Given the description of an element on the screen output the (x, y) to click on. 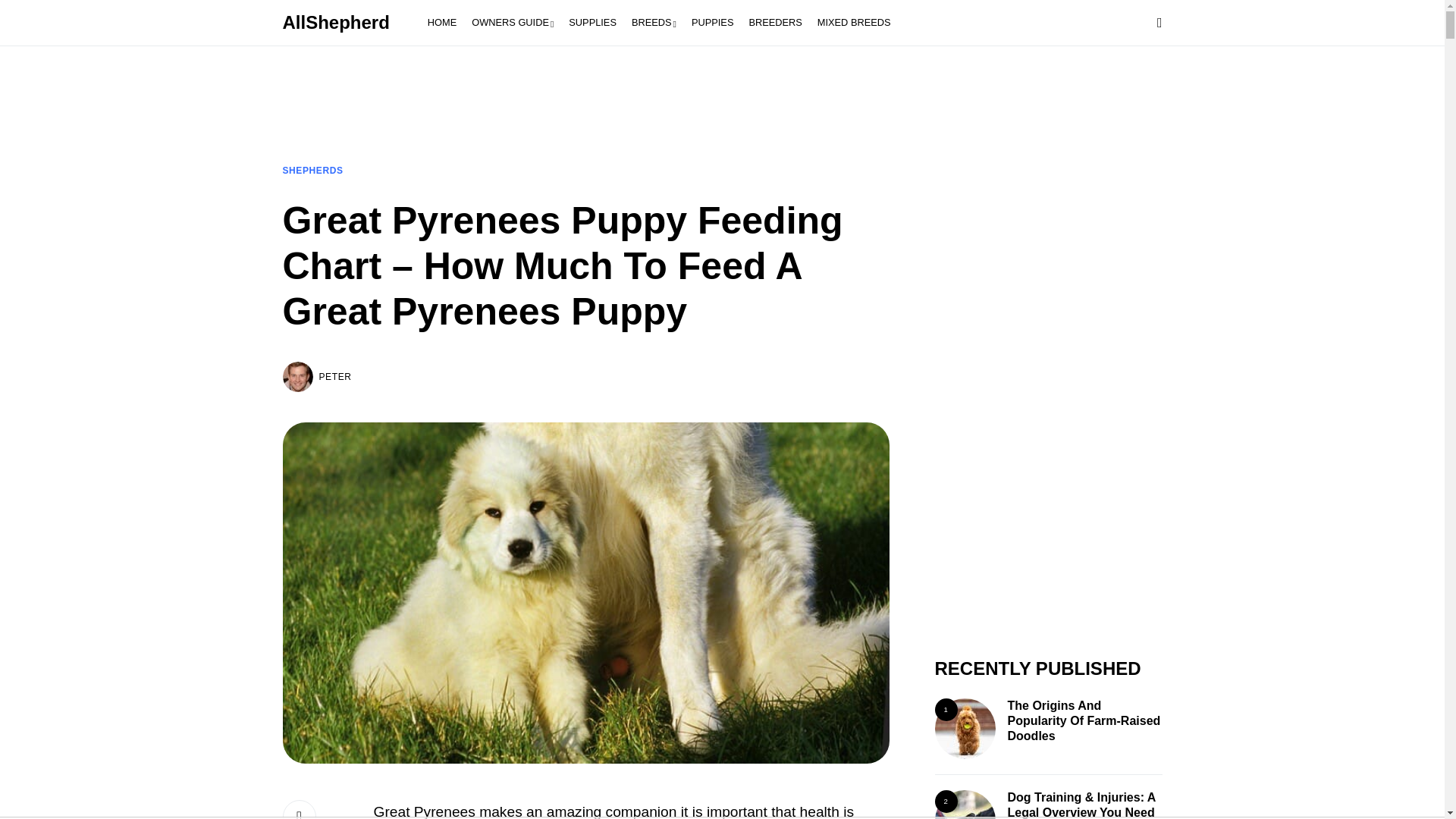
The Origins and Popularity of Farm-Raised Doodles 11 (964, 728)
AllShepherd (339, 22)
PUPPIES (712, 22)
BREEDS (654, 22)
OWNERS GUIDE (512, 22)
BREEDERS (775, 22)
SUPPLIES (592, 22)
MIXED BREEDS (853, 22)
